Given the description of an element on the screen output the (x, y) to click on. 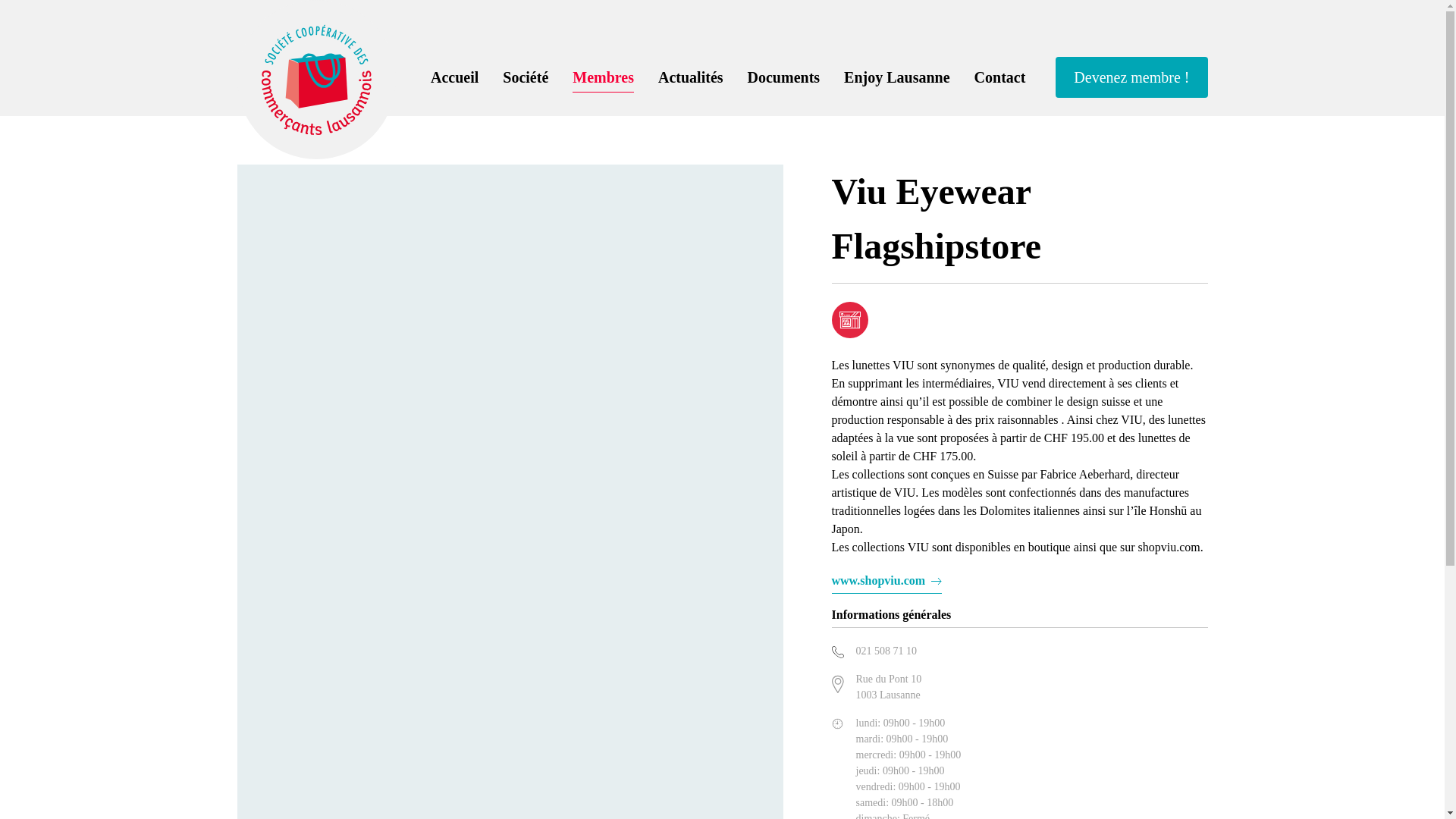
Contact Element type: text (1000, 76)
Devenez membre ! Element type: text (1131, 76)
www.shopviu.com Element type: text (886, 580)
Documents Element type: text (783, 76)
Membres Element type: text (602, 76)
Enjoy Lausanne Element type: text (897, 76)
Accueil Element type: text (454, 76)
021 508 71 10 Element type: text (885, 650)
